Given the description of an element on the screen output the (x, y) to click on. 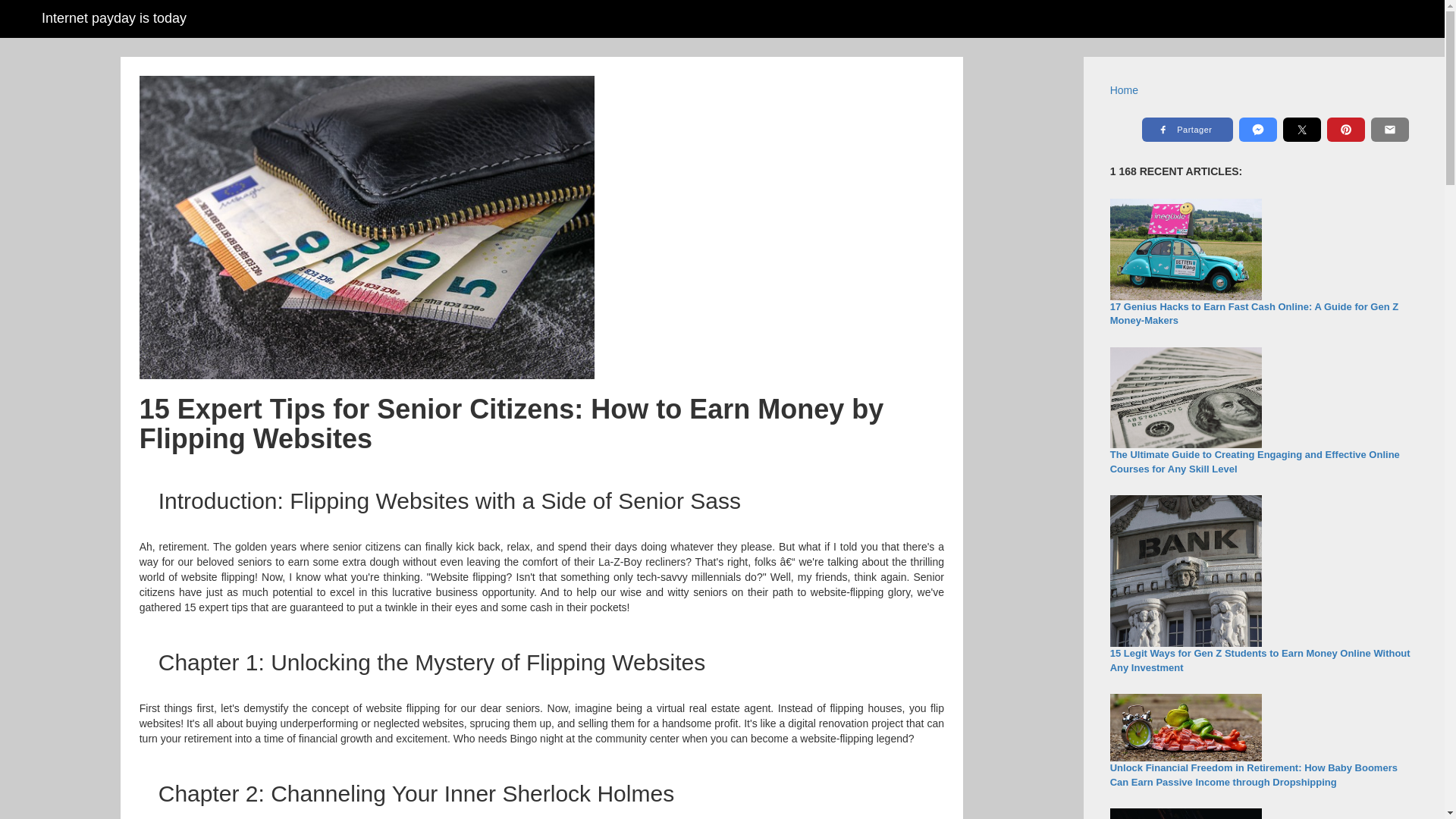
Home (1123, 90)
